Given the description of an element on the screen output the (x, y) to click on. 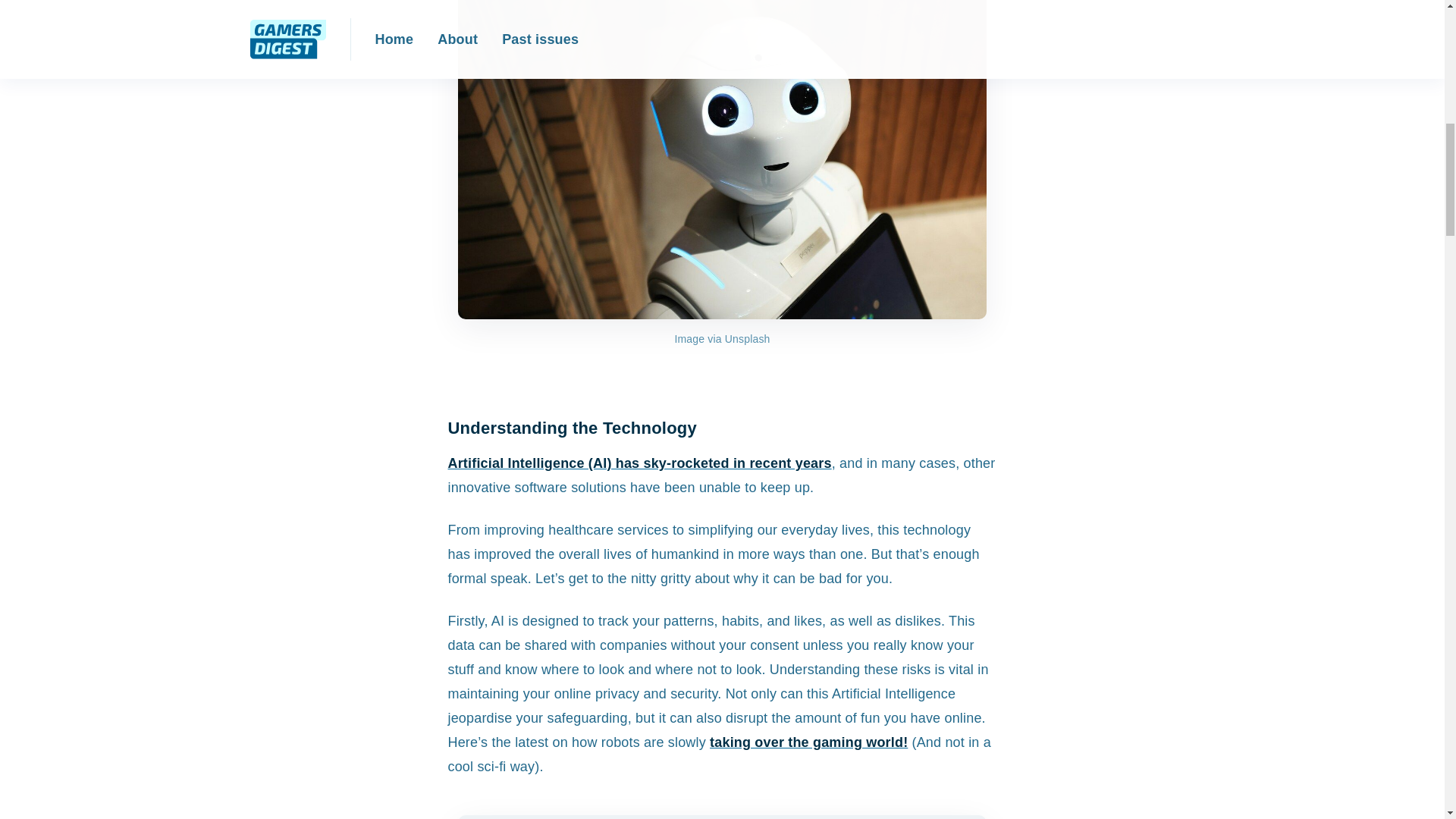
taking over the gaming world! (808, 742)
